Given the description of an element on the screen output the (x, y) to click on. 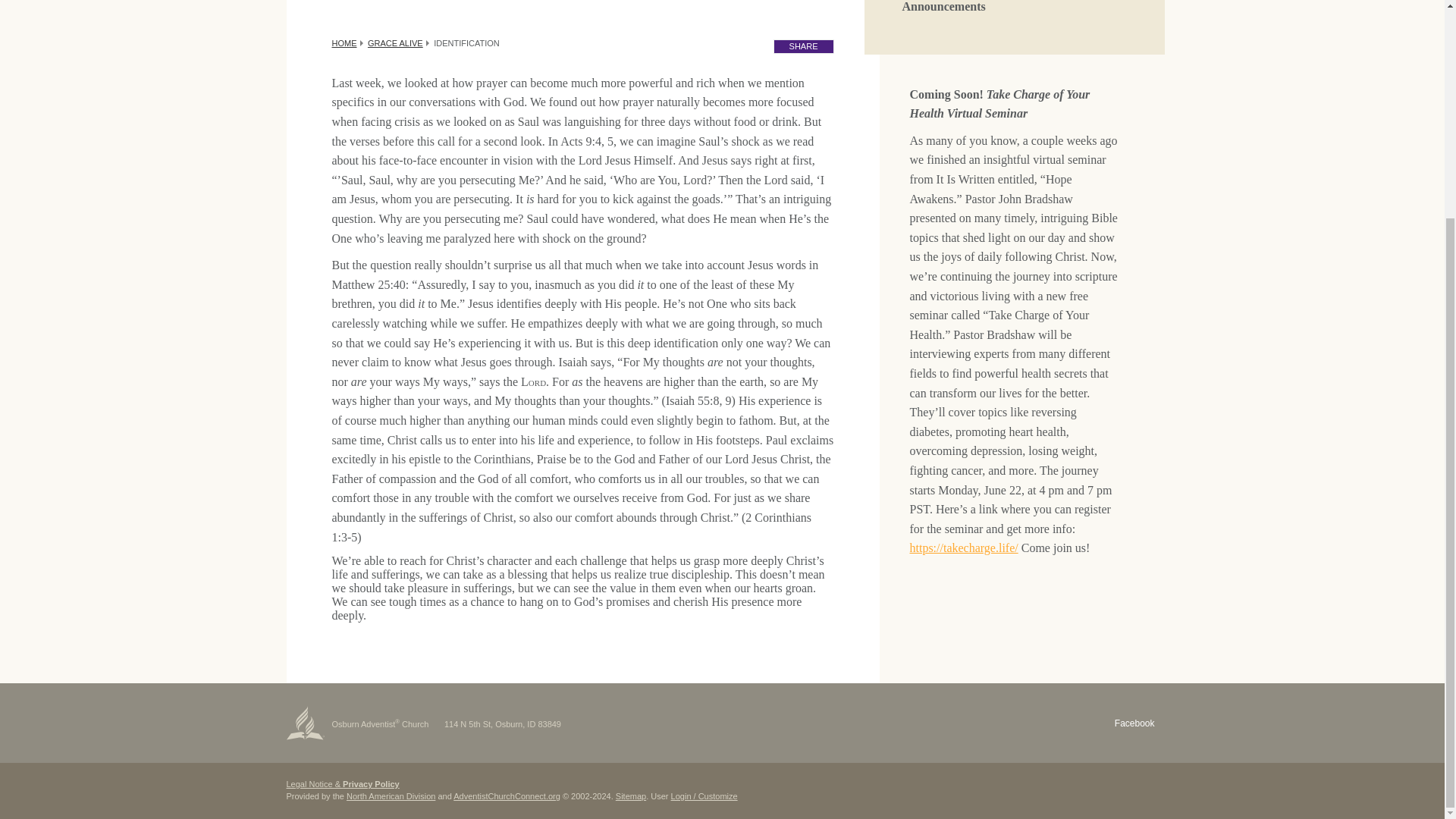
Seventh-day Adventist Logo (305, 722)
Sitemap (630, 795)
GRACE ALIVE (395, 42)
HOME (343, 42)
SHARE (803, 46)
Facebook (1134, 723)
AdventistChurchConnect.org (506, 795)
North American Division (390, 795)
